Given the description of an element on the screen output the (x, y) to click on. 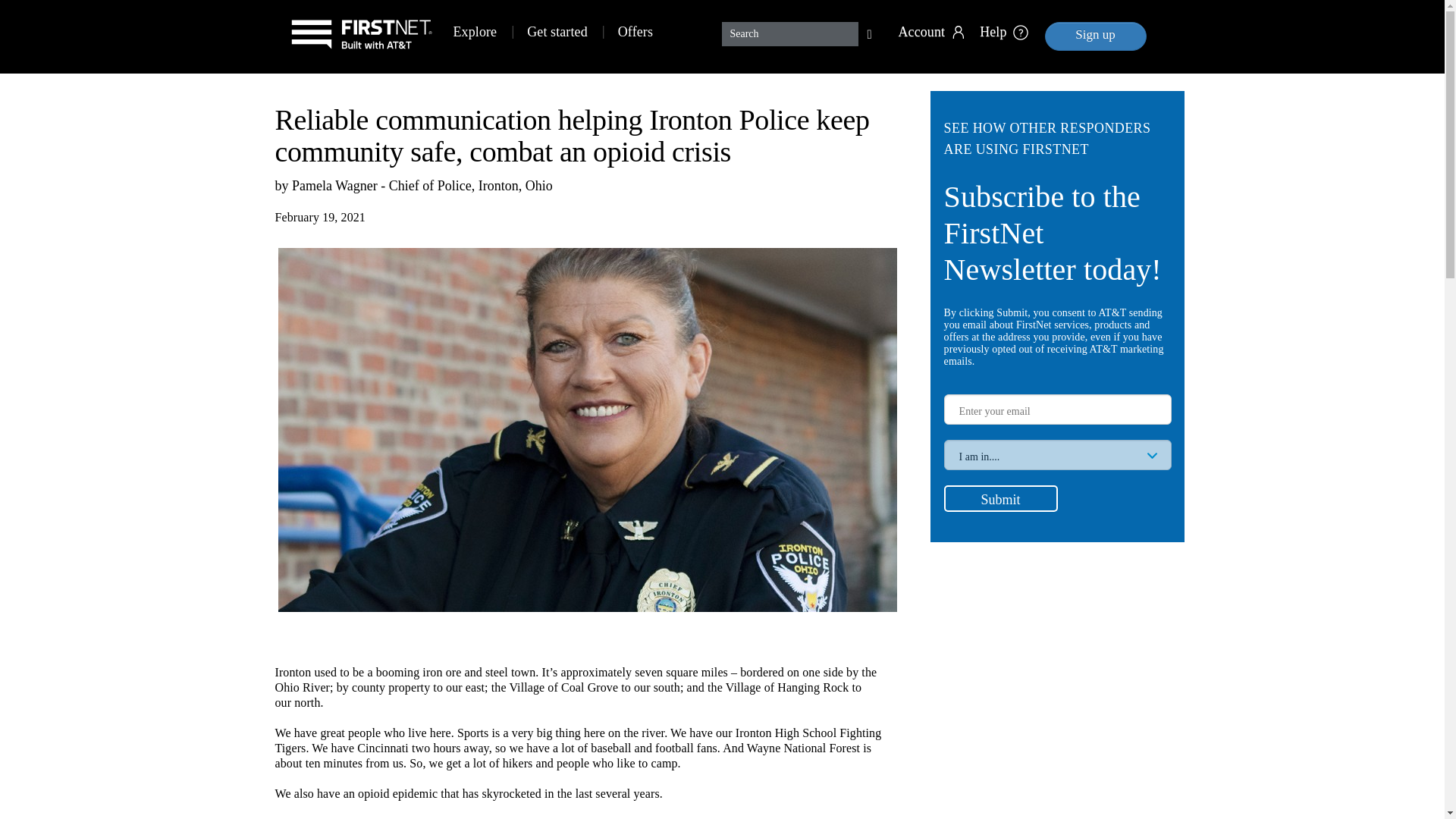
Search (790, 33)
FirstNet Desktop logo (360, 35)
Get started (557, 31)
Explore (475, 31)
Help (1002, 16)
Search (790, 33)
Search (869, 33)
Sign up (1096, 36)
Offers (635, 31)
Account (932, 16)
